Given the description of an element on the screen output the (x, y) to click on. 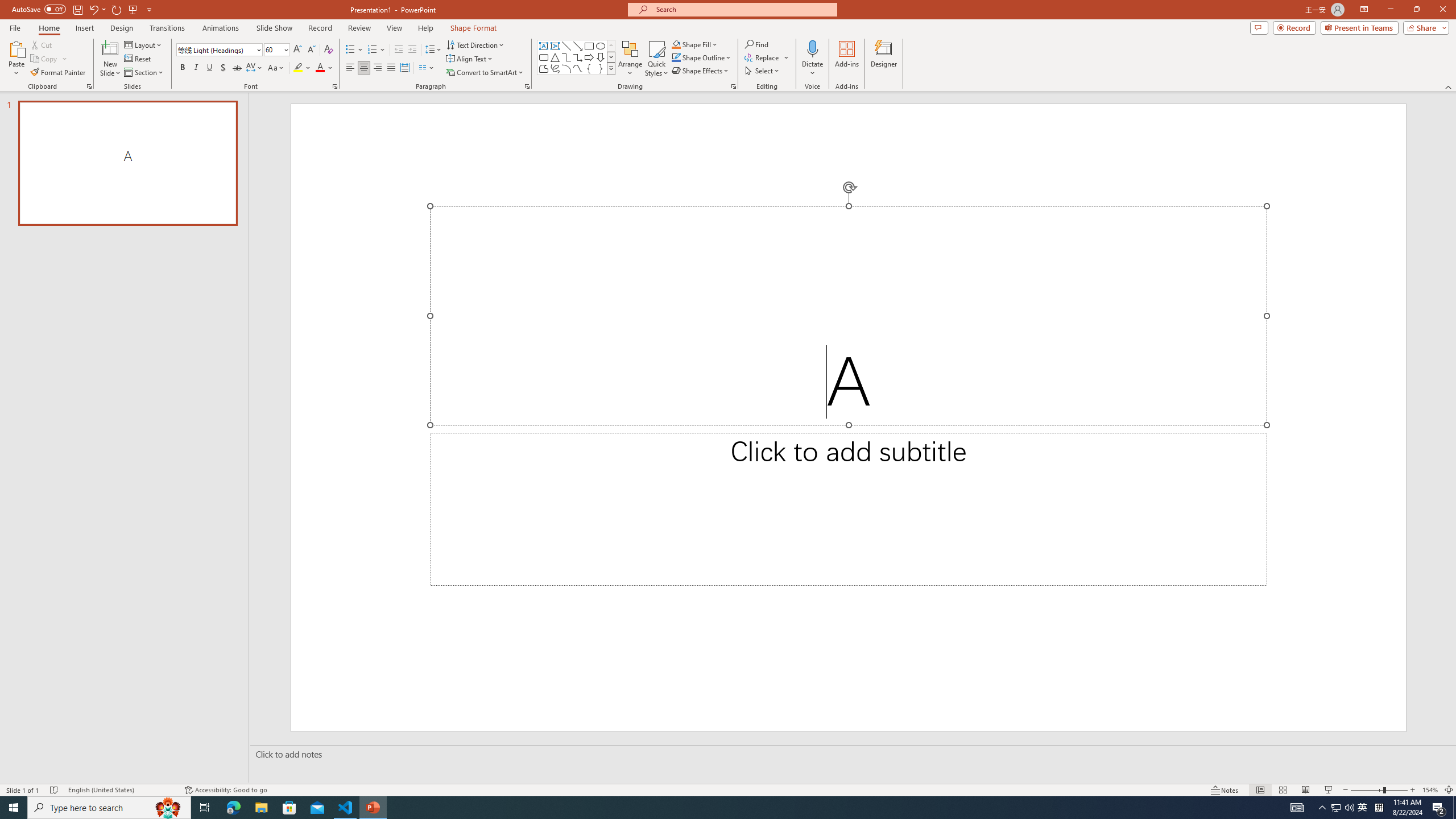
Zoom 154% (1430, 790)
